Given the description of an element on the screen output the (x, y) to click on. 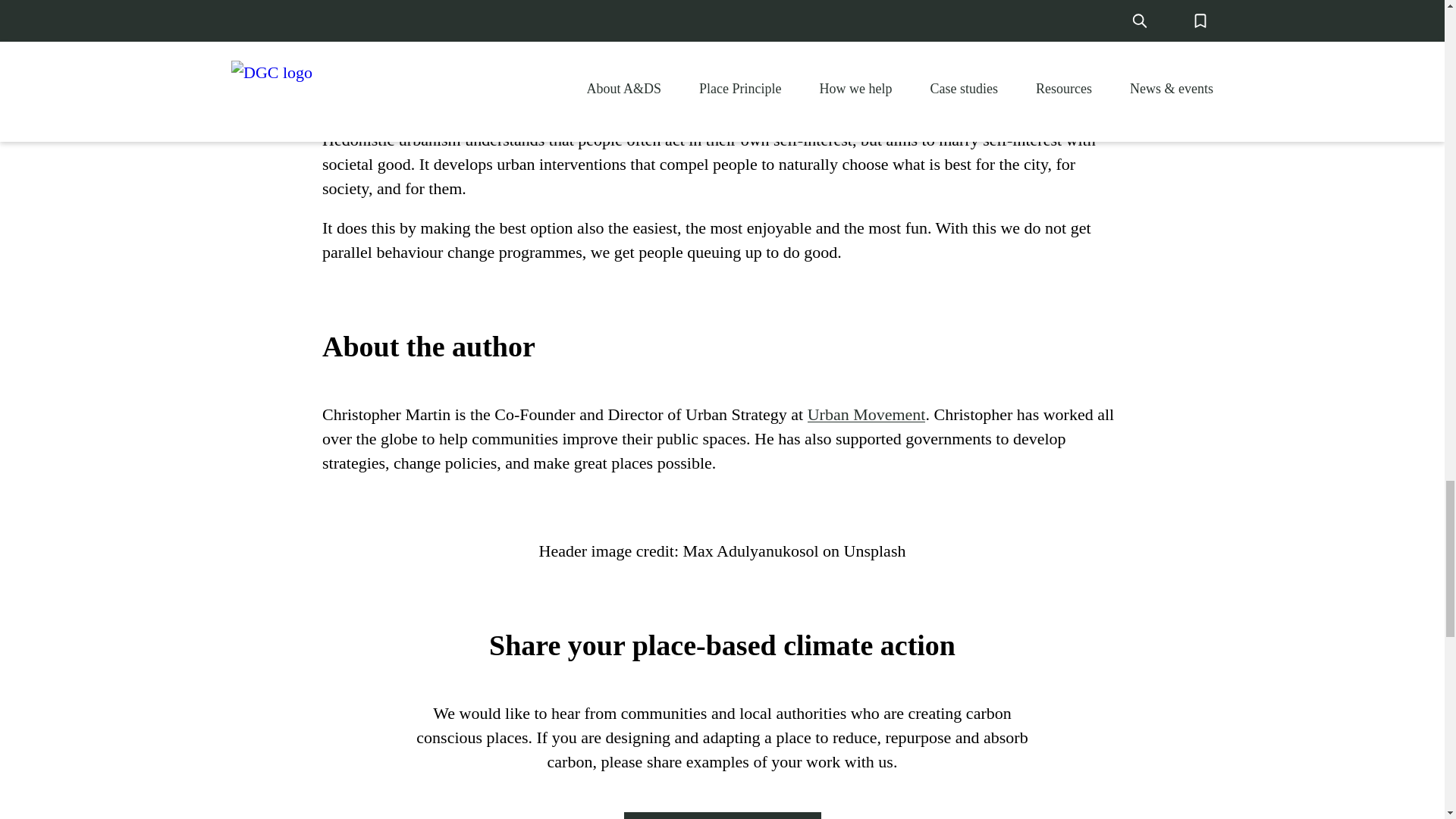
Urban Movement (867, 414)
Share your work (722, 815)
